Given the description of an element on the screen output the (x, y) to click on. 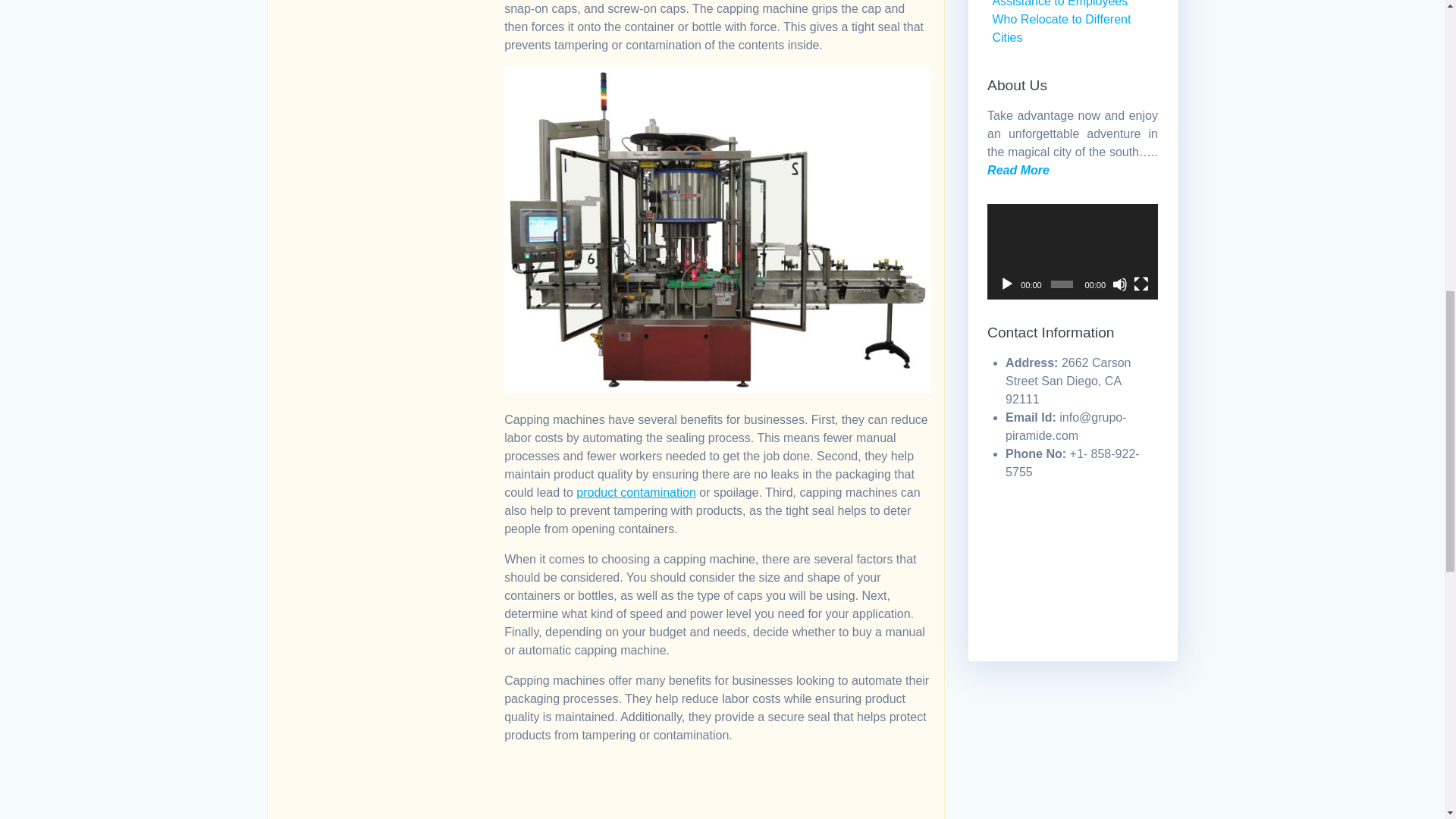
Read More (1018, 169)
Mute (1119, 283)
Fullscreen (1141, 283)
YouTube video player (715, 781)
Play (1006, 283)
product contamination (635, 492)
